Given the description of an element on the screen output the (x, y) to click on. 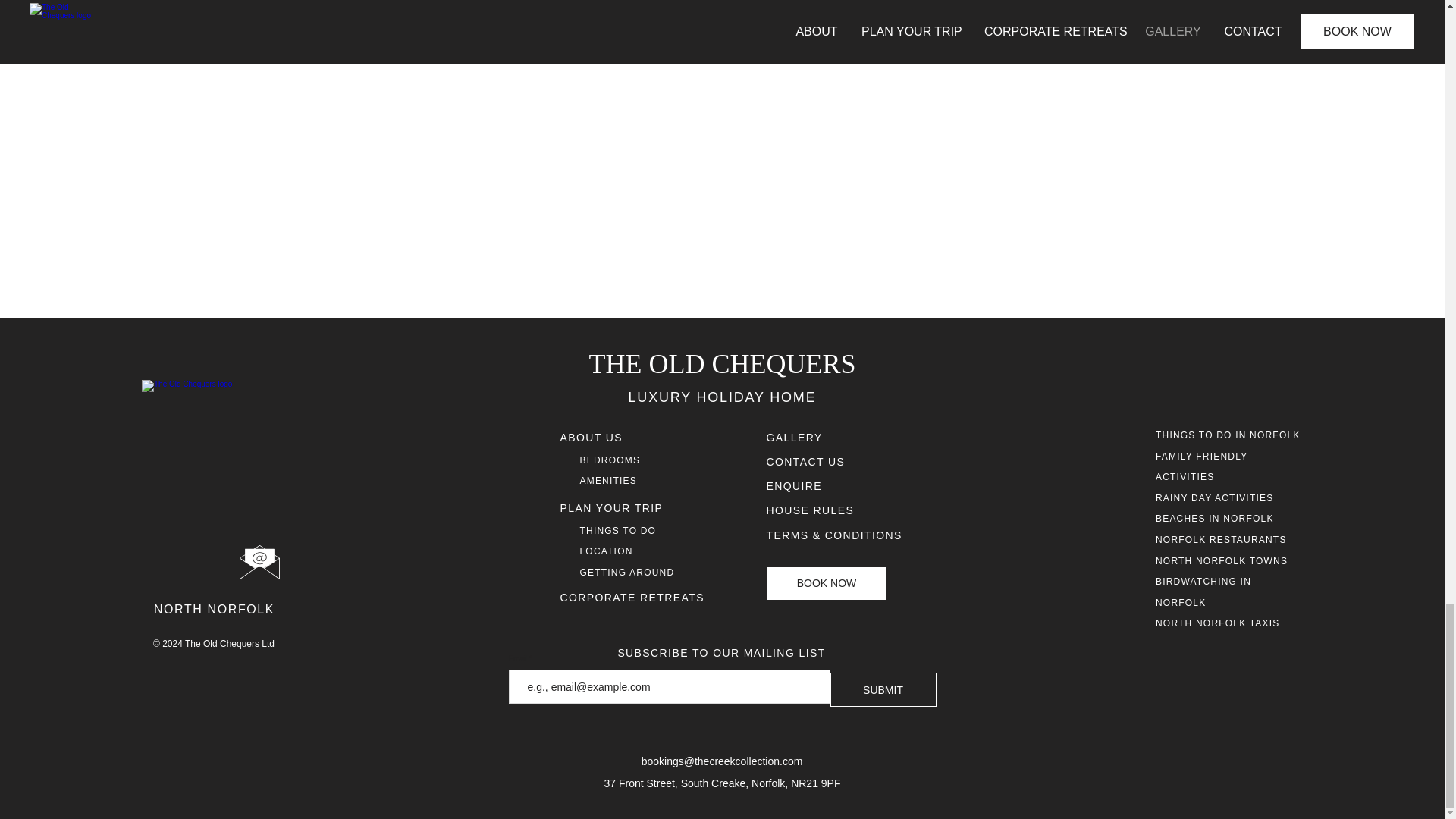
BEDROOMS (609, 460)
BOOK NOW (825, 583)
GALLERY (793, 437)
PLAN YOUR TRIP (610, 508)
AMENITIES (607, 480)
ENQUIRE (793, 485)
THE OLD CHEQUERS (722, 363)
THINGS TO DO IN NORFOLK (1228, 434)
CONTACT US (804, 461)
THINGS TO DO (617, 530)
GETTING AROUND (626, 572)
SUBMIT (882, 689)
ABOUT US (591, 437)
LOCATION (605, 551)
CORPORATE RETREATS (631, 597)
